Given the description of an element on the screen output the (x, y) to click on. 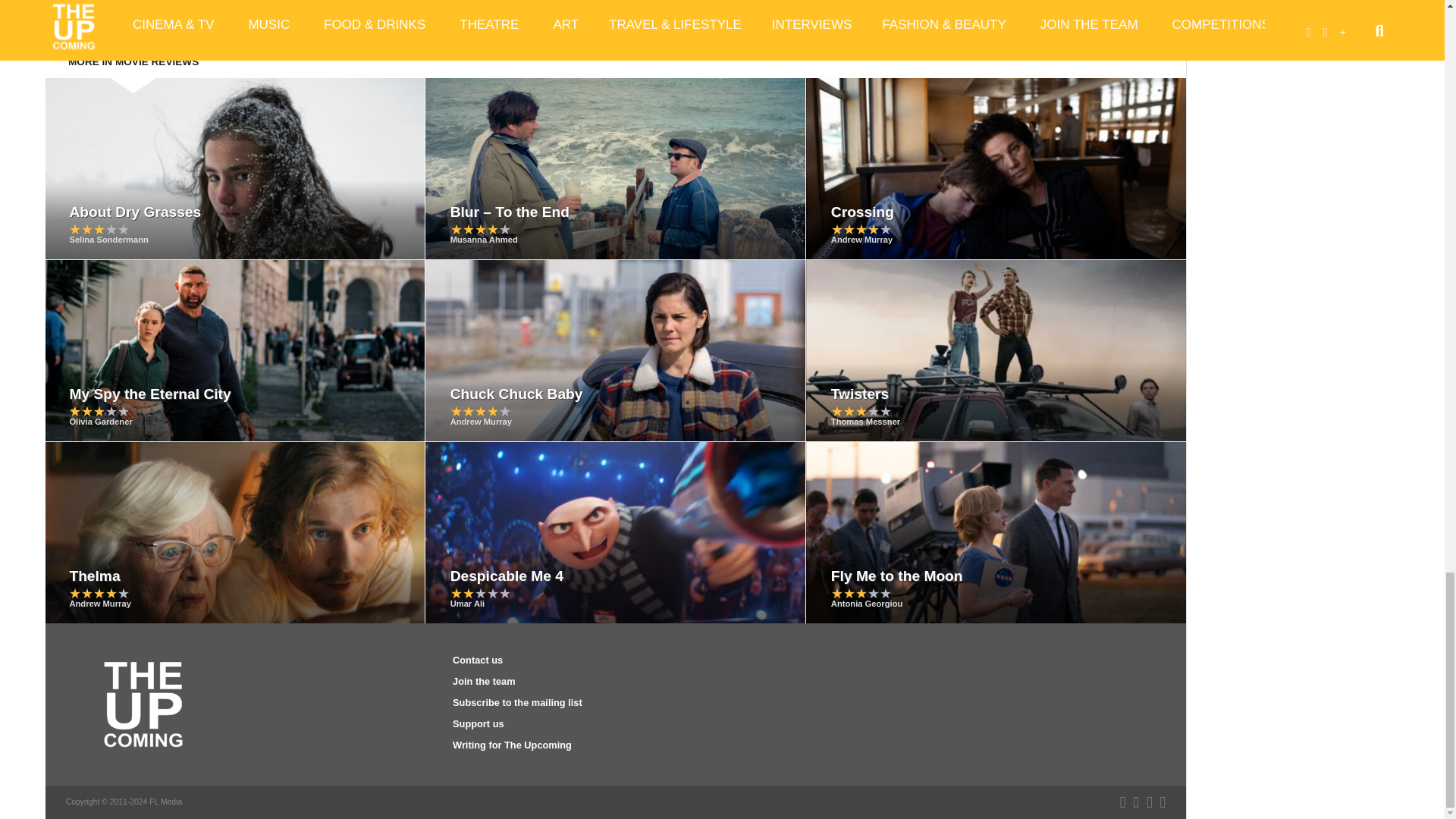
4 out of 5 stars (861, 228)
4 out of 5 stars (480, 228)
3 out of 5 stars (98, 228)
